Given the description of an element on the screen output the (x, y) to click on. 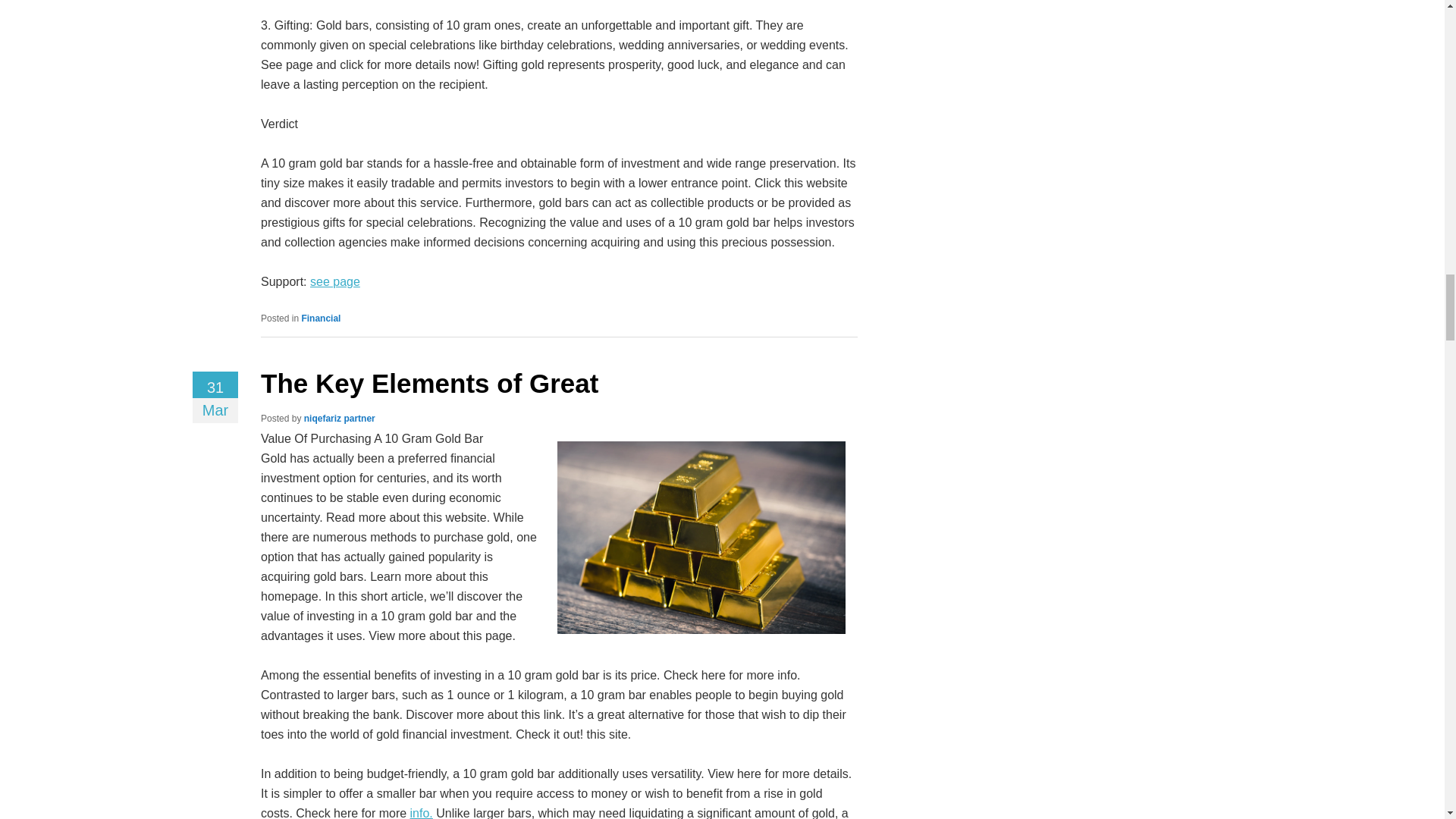
see page (334, 281)
niqefariz partner (339, 418)
info. (421, 812)
The Key Elements of Great (429, 383)
View all posts by niqefariz partner (339, 418)
The Key Elements of Great (429, 383)
Financial (320, 317)
